Given the description of an element on the screen output the (x, y) to click on. 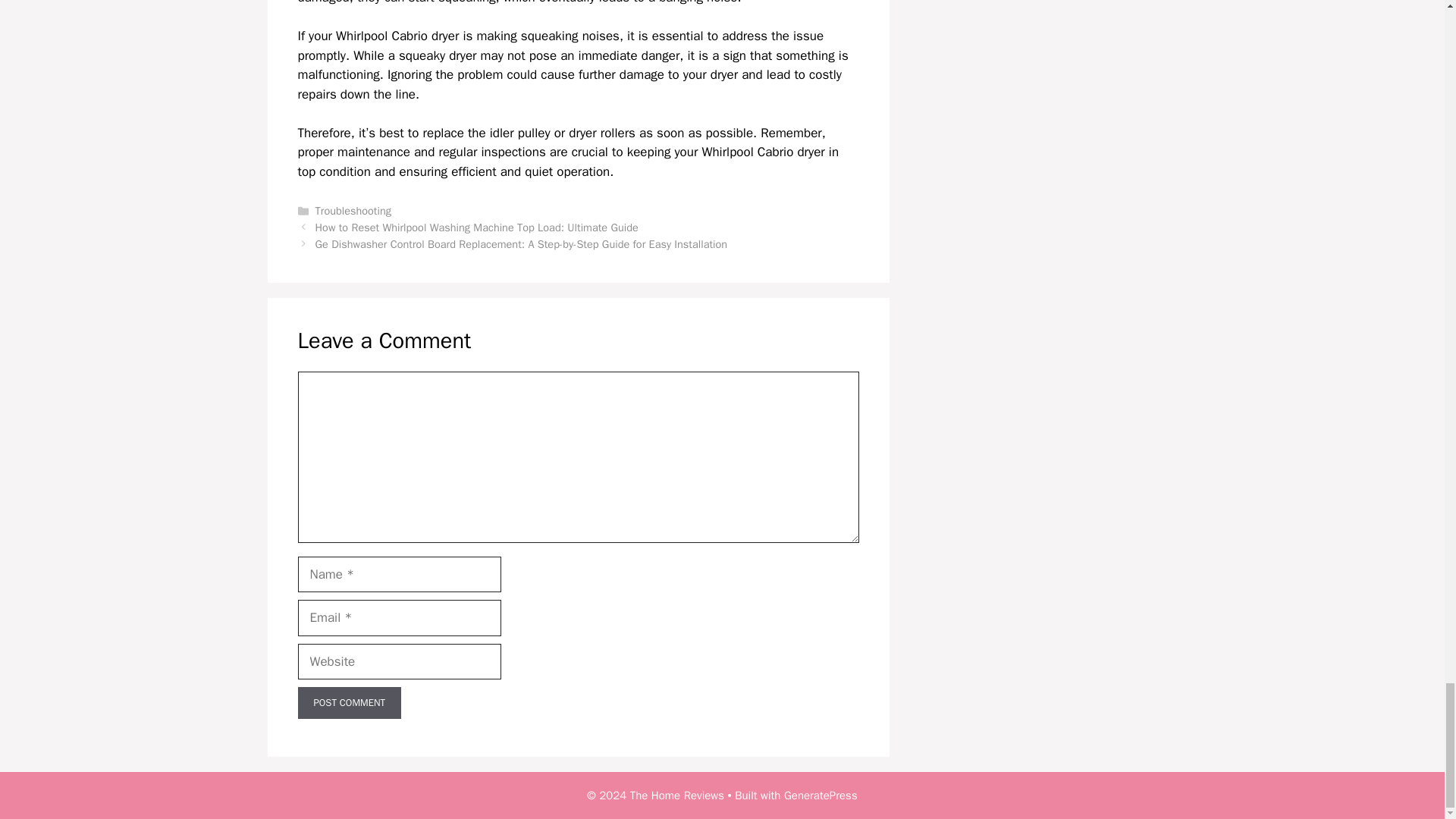
Post Comment (349, 703)
Troubleshooting (353, 210)
Post Comment (349, 703)
